Given the description of an element on the screen output the (x, y) to click on. 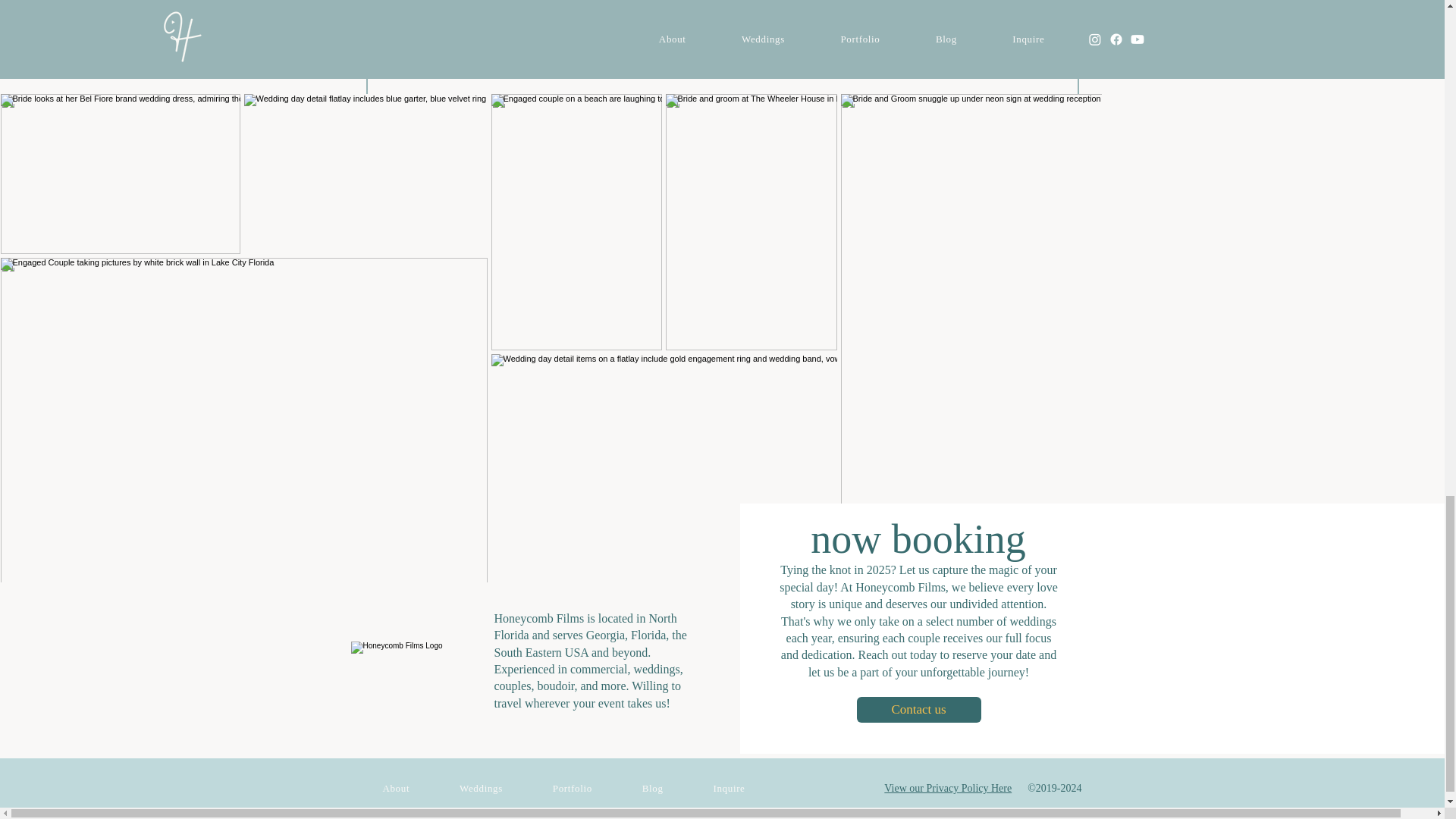
About (396, 788)
Contact us (919, 709)
Write a comment... (721, 53)
